Given the description of an element on the screen output the (x, y) to click on. 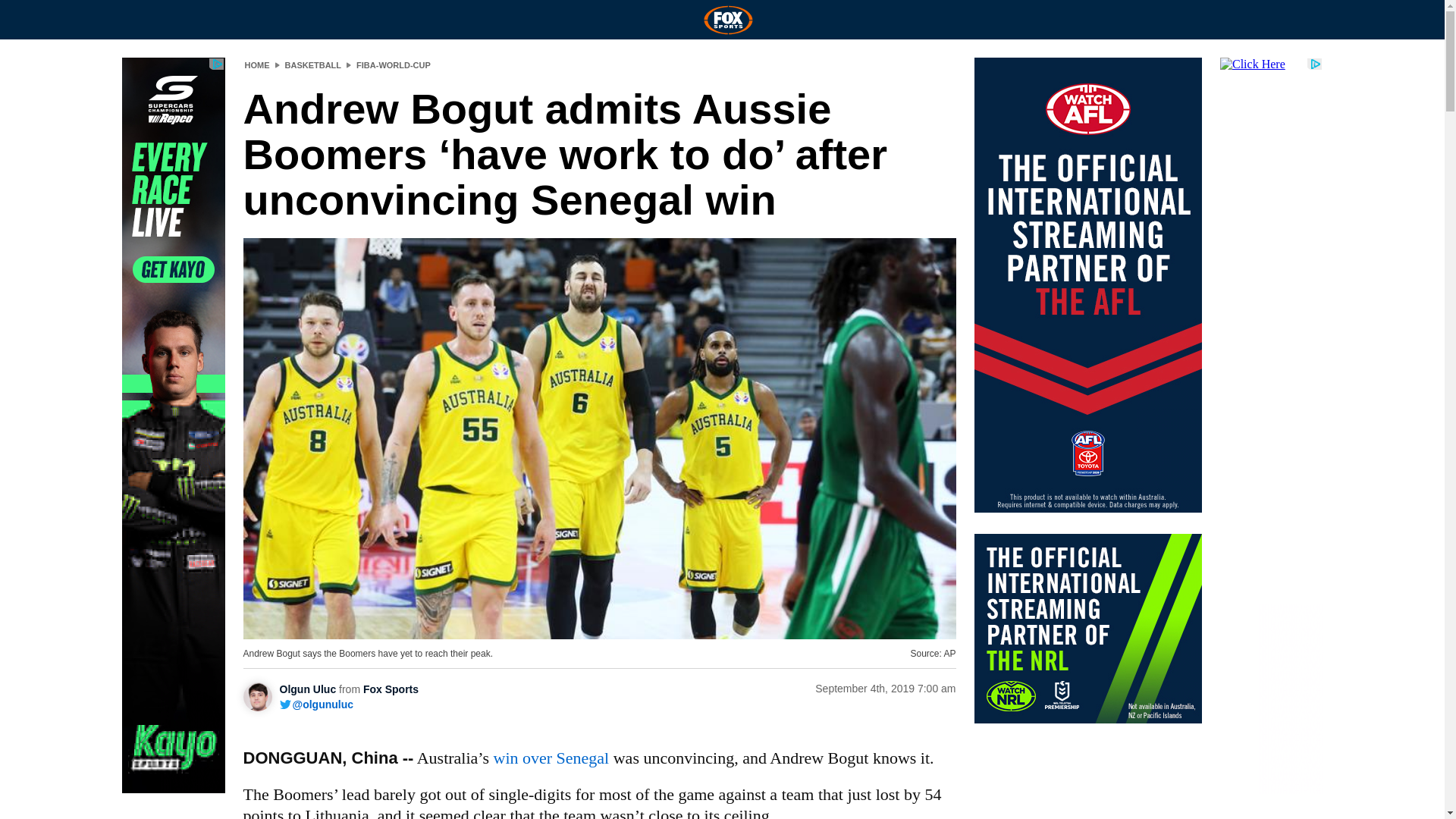
BASKETBALL (313, 64)
win over Senegal (550, 757)
3rd party ad content (1087, 628)
FIBA-WORLD-CUP (393, 64)
HOME (256, 64)
